Given the description of an element on the screen output the (x, y) to click on. 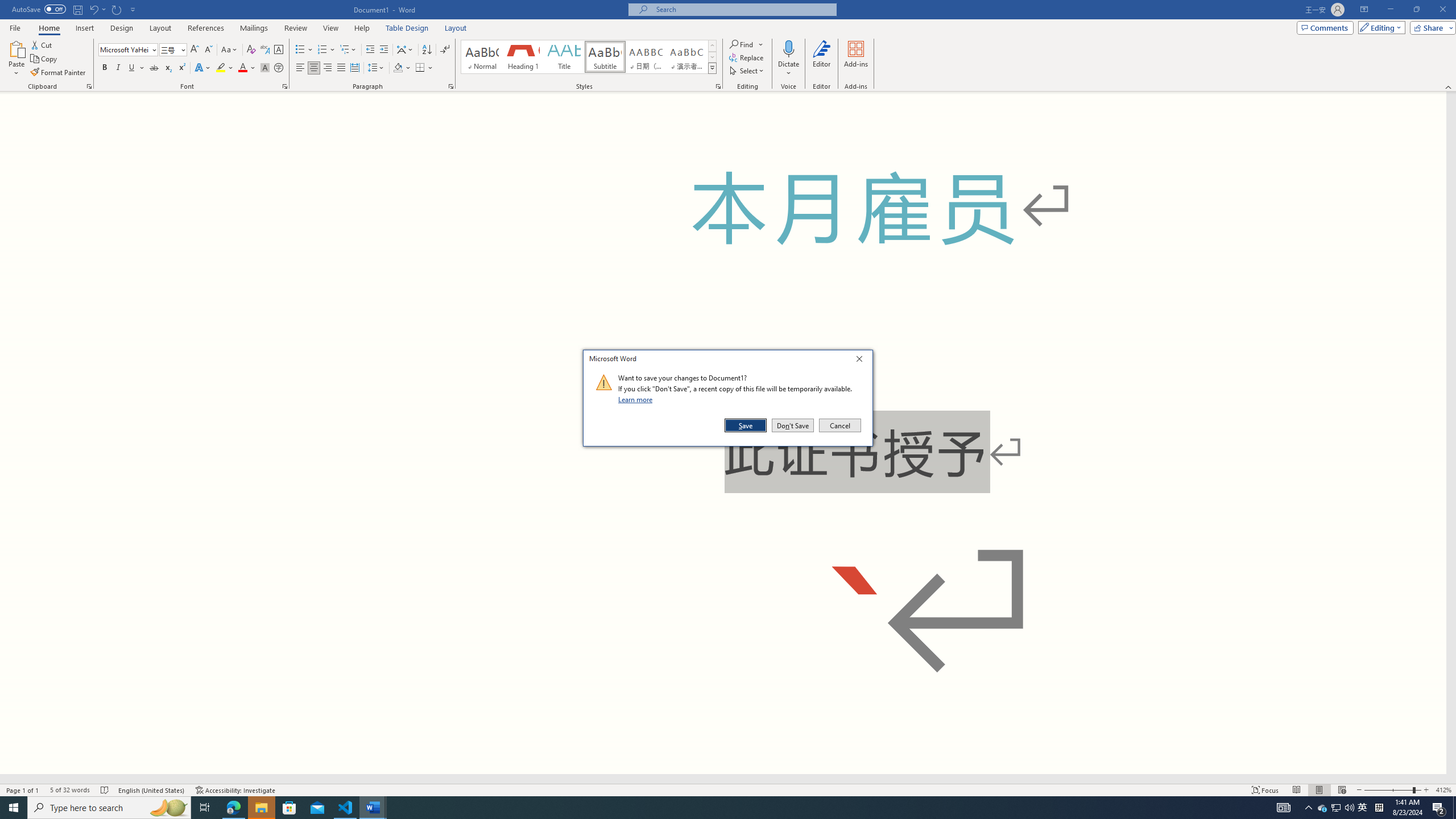
Text Highlight Color (224, 67)
Q2790: 100% (1349, 807)
Language English (United States) (152, 790)
Start (13, 807)
Office Clipboard... (88, 85)
Character Border (278, 49)
Action Center, 2 new notifications (1439, 807)
Increase Indent (383, 49)
AutomationID: QuickStylesGallery (588, 56)
Visual Studio Code - 1 running window (345, 807)
Italic (118, 67)
Change Case (229, 49)
